Given the description of an element on the screen output the (x, y) to click on. 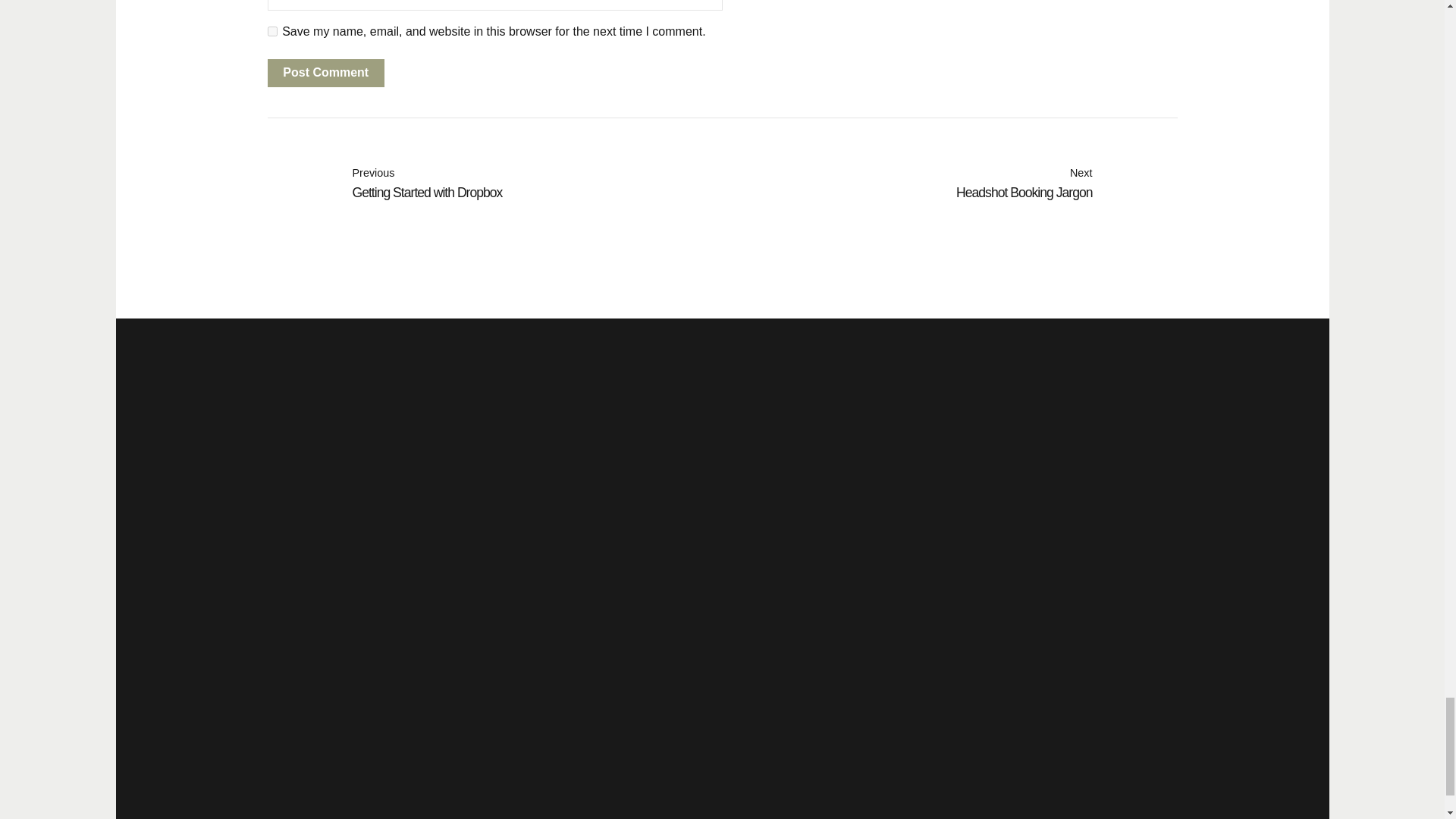
Sign up (918, 527)
Post Comment (494, 184)
yes (949, 184)
